Given the description of an element on the screen output the (x, y) to click on. 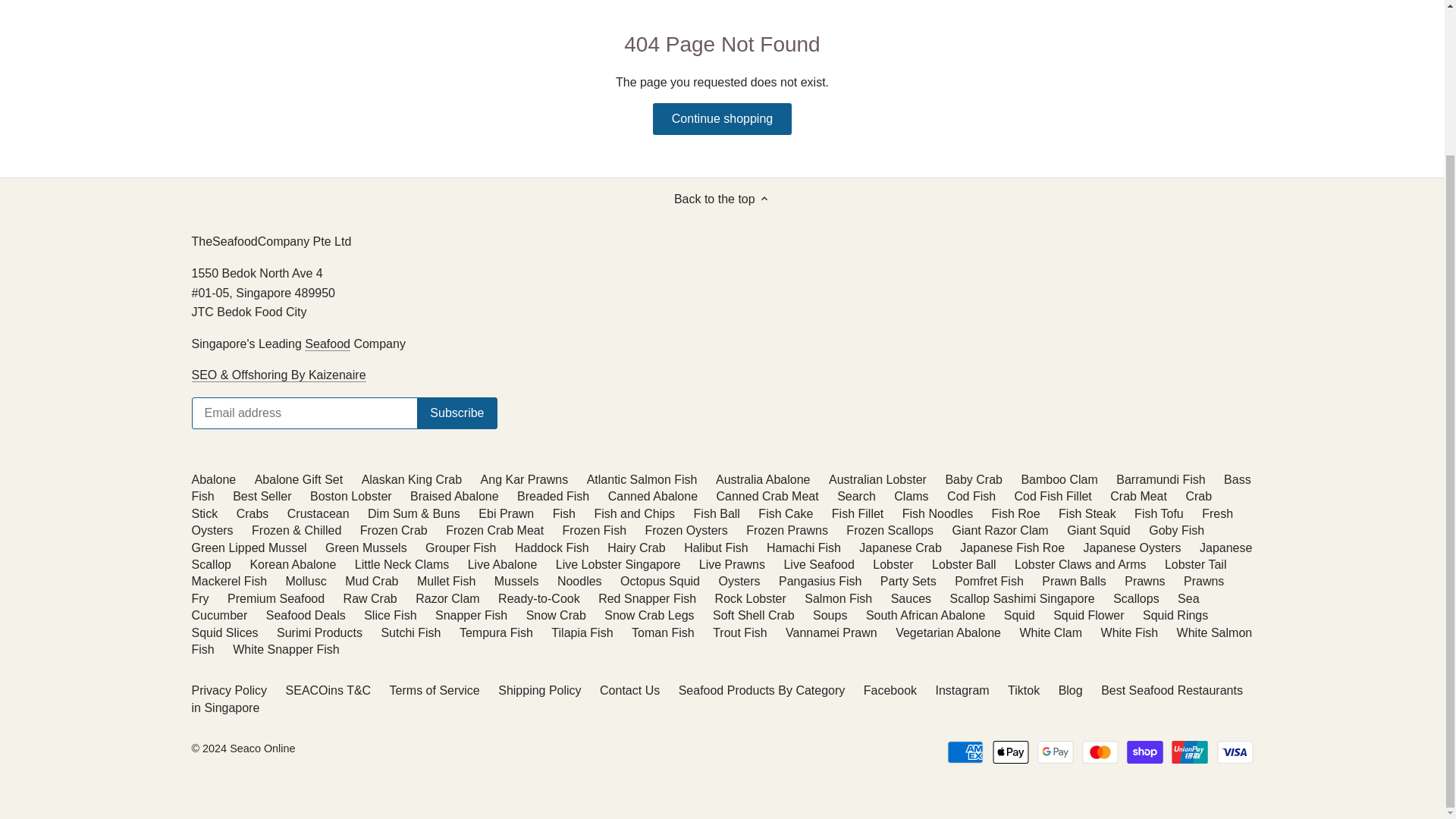
Apple Pay (1010, 752)
American Express (965, 752)
Visa (1233, 752)
Union Pay (1190, 752)
Subscribe (456, 413)
Mastercard (1099, 752)
Google Pay (1055, 752)
Shop Pay (1144, 752)
